Given the description of an element on the screen output the (x, y) to click on. 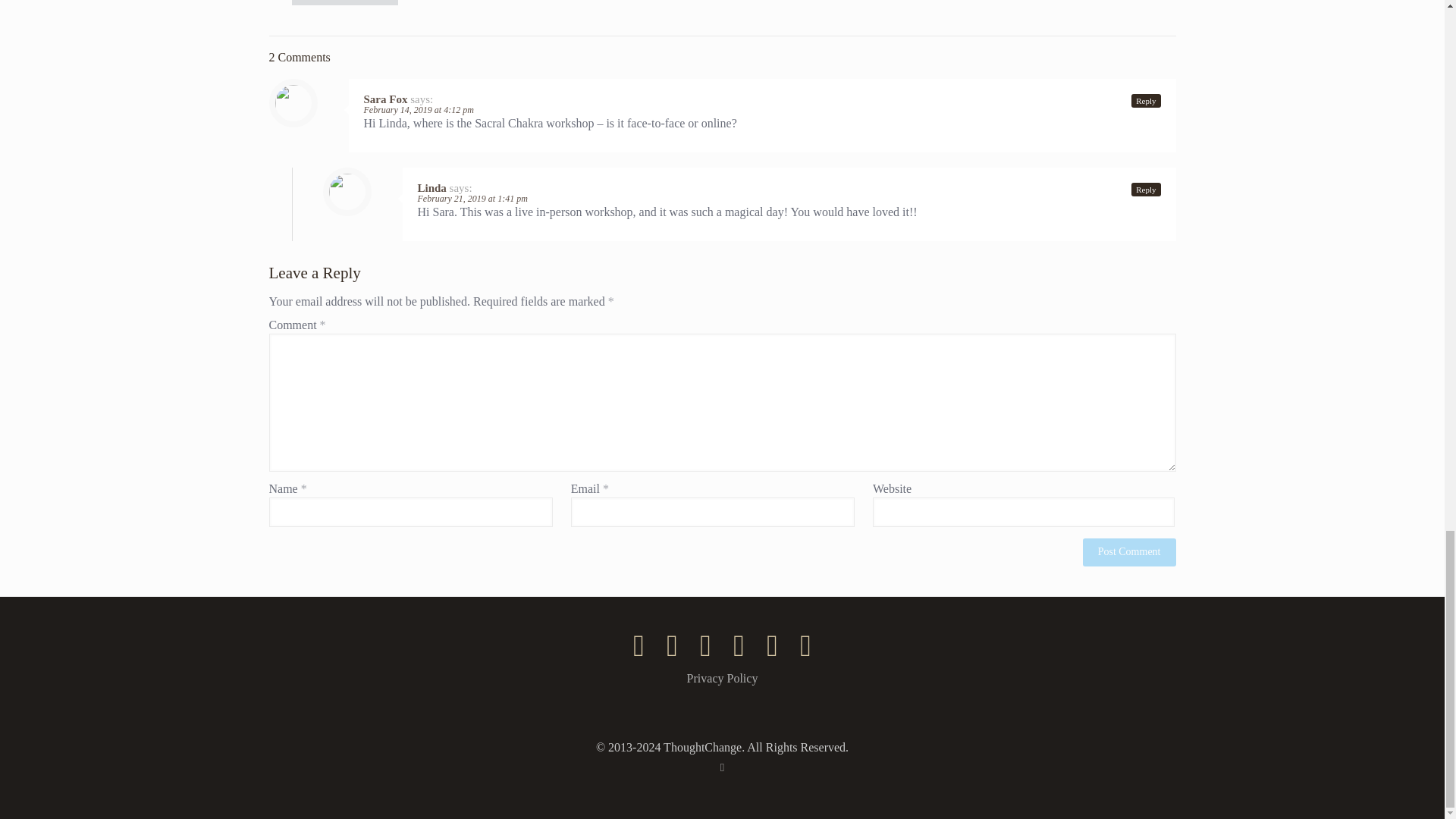
Post Comment (1129, 552)
